Given the description of an element on the screen output the (x, y) to click on. 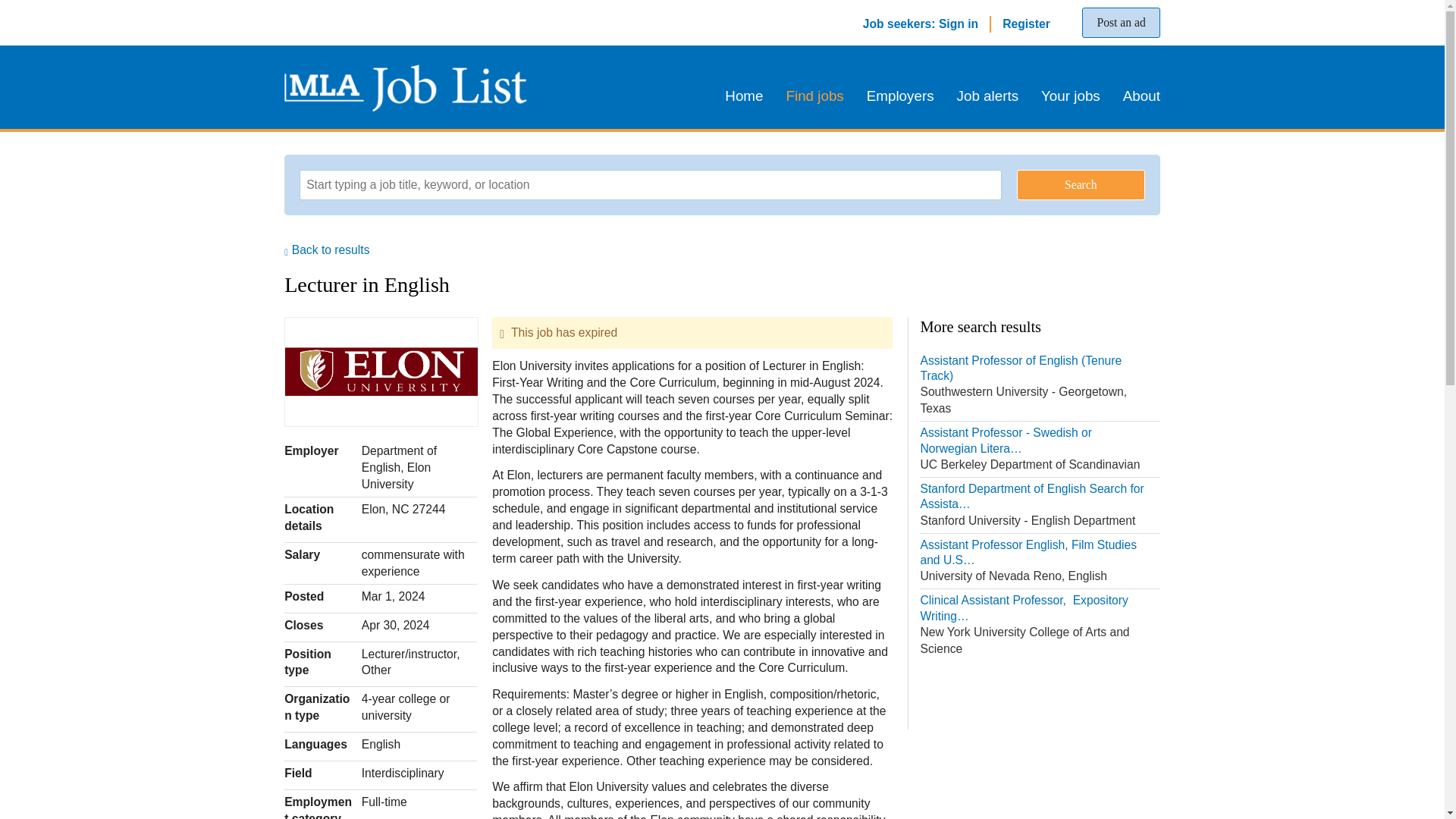
Find jobs (814, 95)
Home (749, 95)
Post an ad (1119, 22)
Search (1080, 184)
Back to results (326, 249)
Employers (900, 95)
Register (1026, 23)
About (1136, 95)
Job seekers: Sign in (920, 23)
Job alerts (987, 95)
Your jobs (1070, 95)
